Given the description of an element on the screen output the (x, y) to click on. 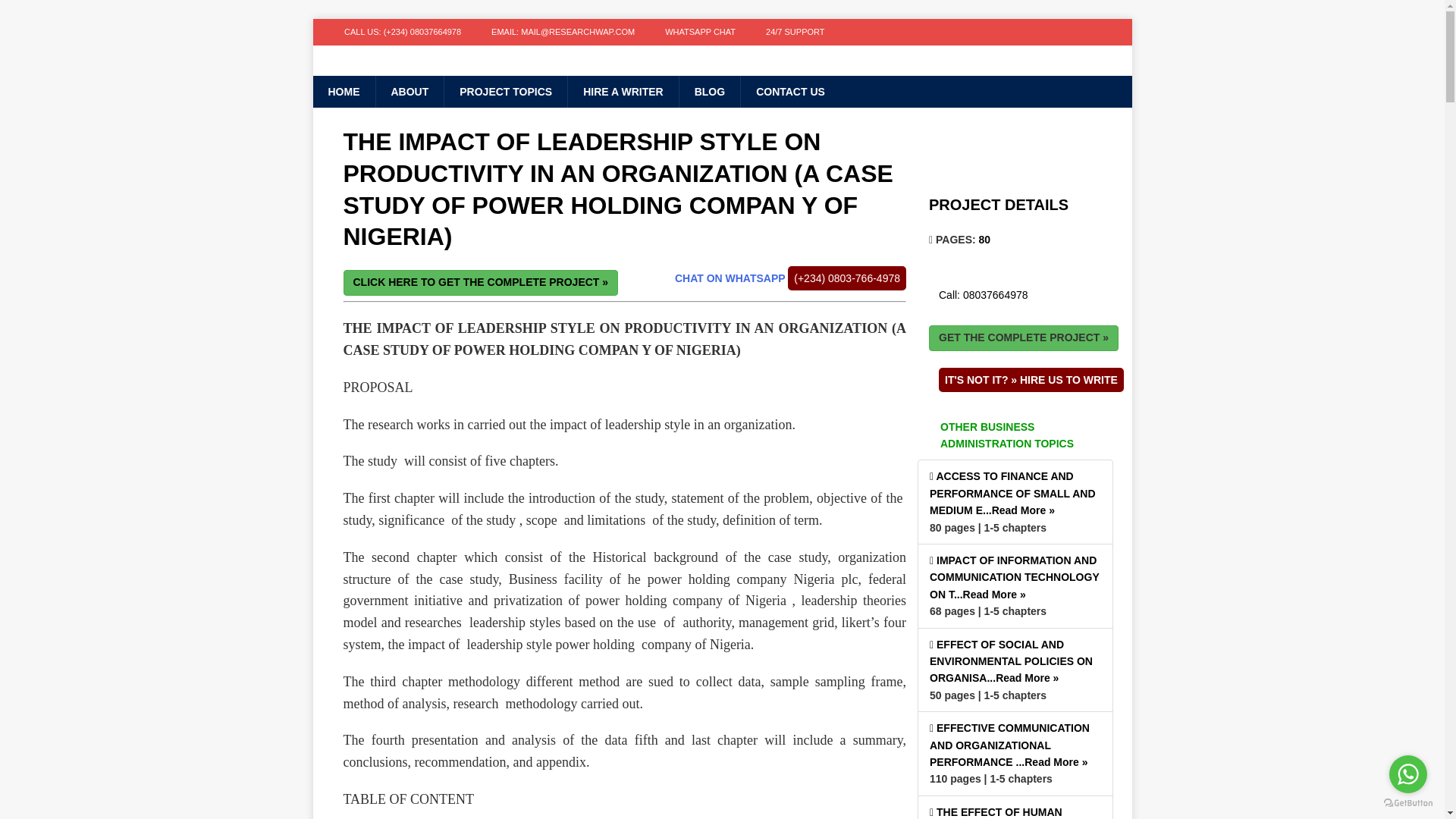
OTHER BUSINESS ADMINISTRATION TOPICS (1015, 435)
HOME (343, 91)
ABOUT (409, 91)
WHATSAPP CHAT (700, 31)
BLOG (708, 91)
80 (984, 239)
PROJECT TOPICS (505, 91)
Call: 08037664978 (983, 295)
HIRE A WRITER (622, 91)
CONTACT US (789, 91)
